Given the description of an element on the screen output the (x, y) to click on. 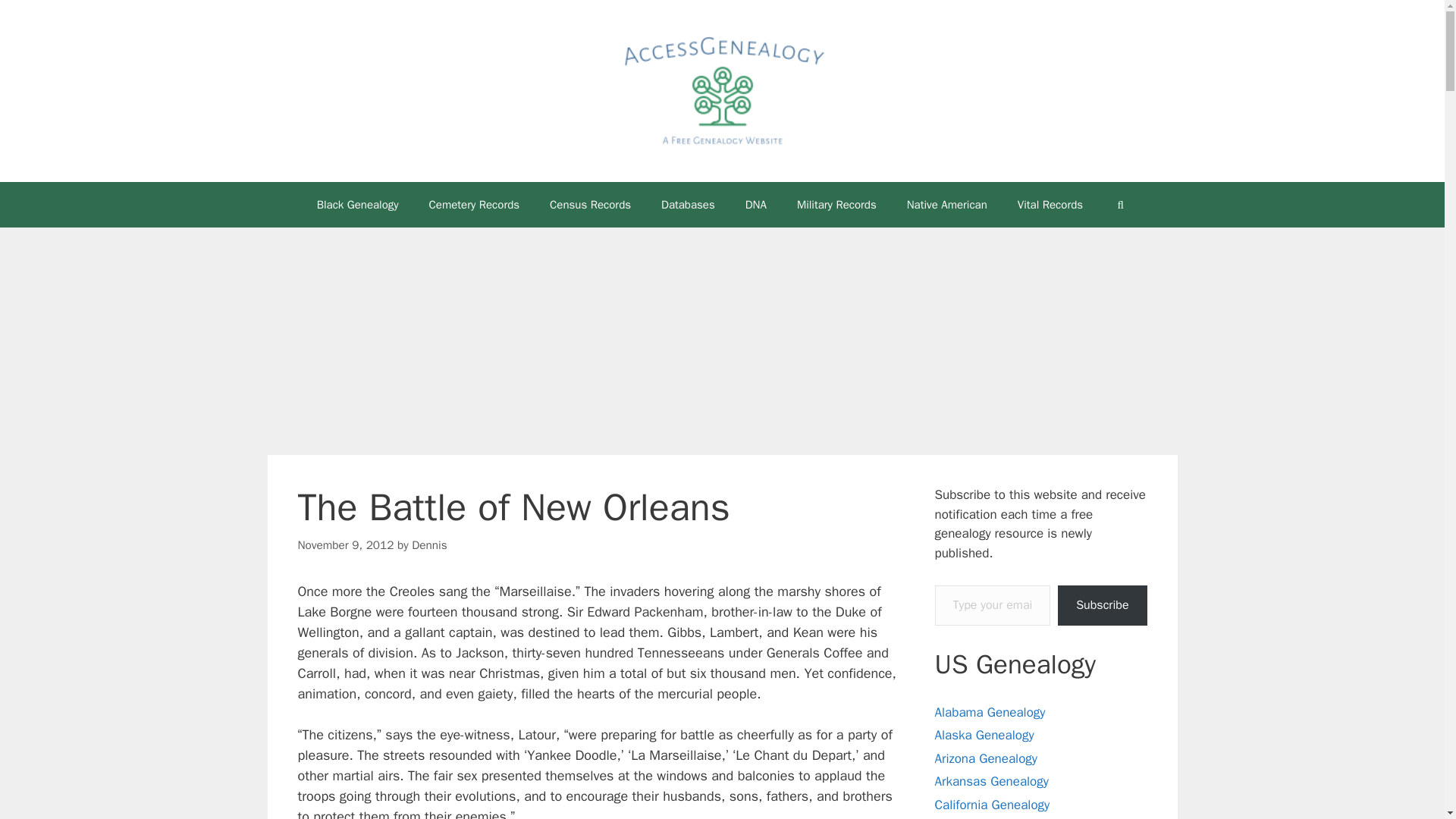
California Genealogy (991, 804)
Alaska Genealogy (983, 734)
Black Genealogy (357, 204)
Arkansas Genealogy (991, 781)
United States Vital Records (1050, 204)
Dennis (429, 544)
Native American (947, 204)
Databases (688, 204)
Arizona Genealogy (985, 758)
Native American History and Genealogy (947, 204)
